Given the description of an element on the screen output the (x, y) to click on. 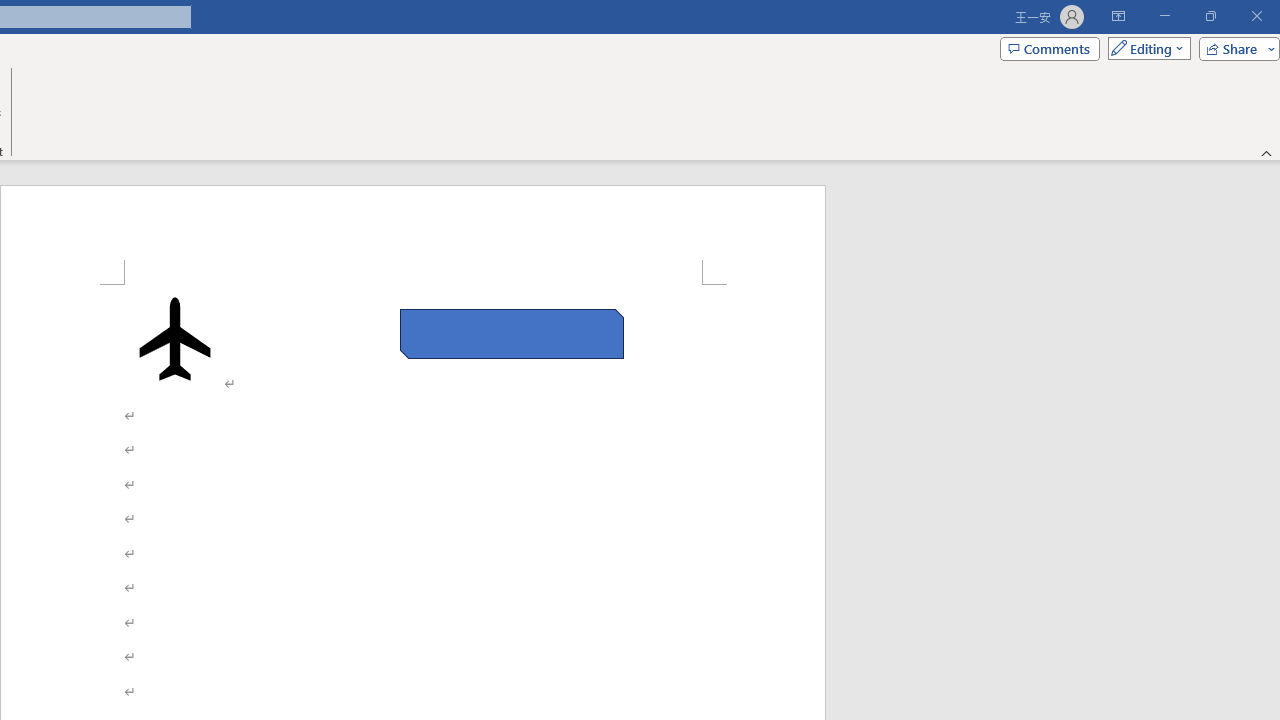
Rectangle: Diagonal Corners Snipped 2 (511, 333)
Comments (1049, 48)
Editing (1144, 47)
Airplane with solid fill (175, 338)
Ribbon Display Options (1118, 16)
Collapse the Ribbon (1267, 152)
Share (1235, 48)
Restore Down (1210, 16)
Minimize (1164, 16)
Close (1256, 16)
